Given the description of an element on the screen output the (x, y) to click on. 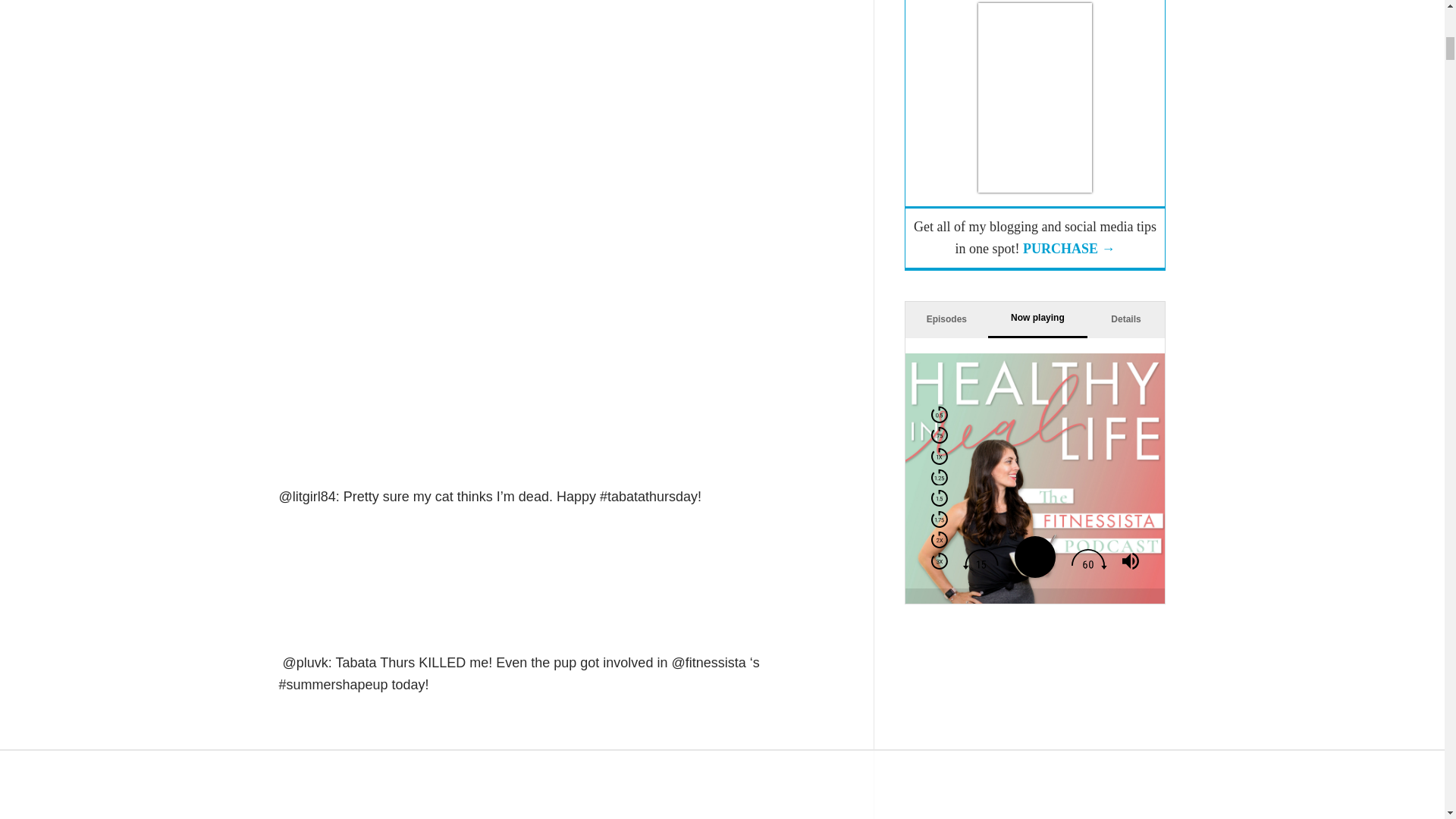
NewImage.png (449, 136)
